Given the description of an element on the screen output the (x, y) to click on. 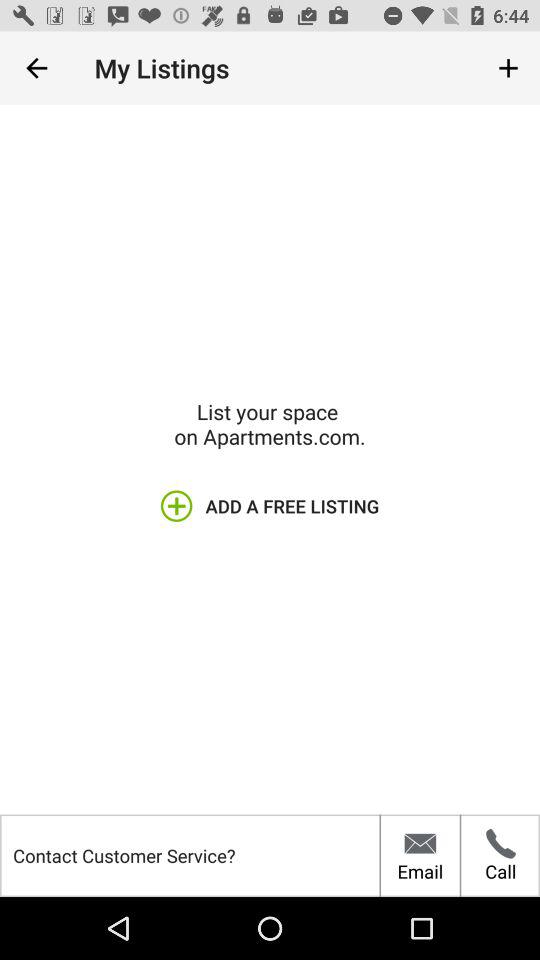
jump to add a free item (269, 505)
